Given the description of an element on the screen output the (x, y) to click on. 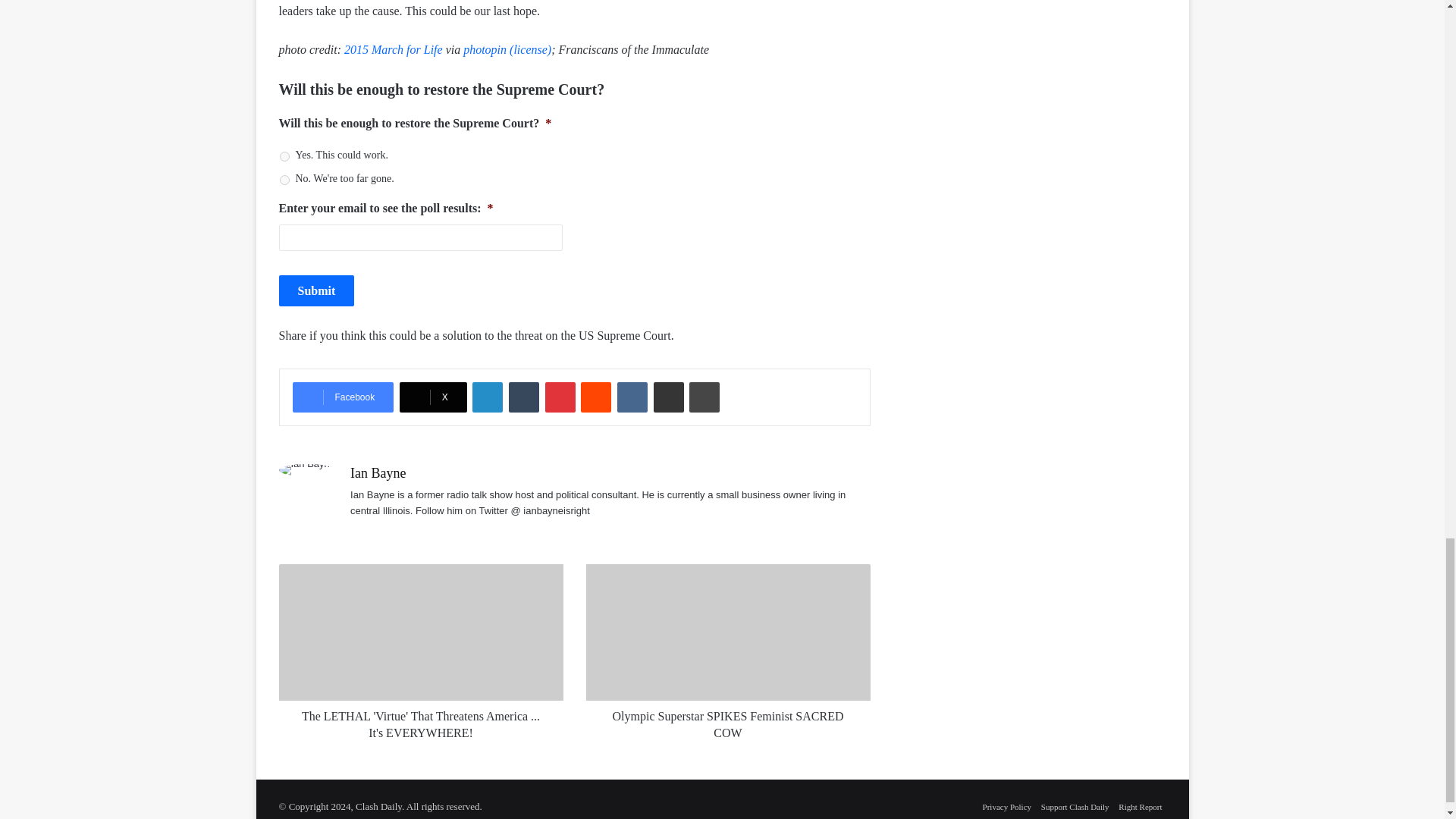
LinkedIn (486, 397)
photopin (484, 49)
Tumblr (523, 397)
Share via Email (668, 397)
Tumblr (523, 397)
gpoll1324f5059 (283, 156)
Pinterest (559, 397)
Facebook (343, 397)
Submit (317, 290)
Print (703, 397)
2015 March for Life (392, 49)
Submit (317, 290)
X (432, 397)
VKontakte (632, 397)
Facebook (343, 397)
